Given the description of an element on the screen output the (x, y) to click on. 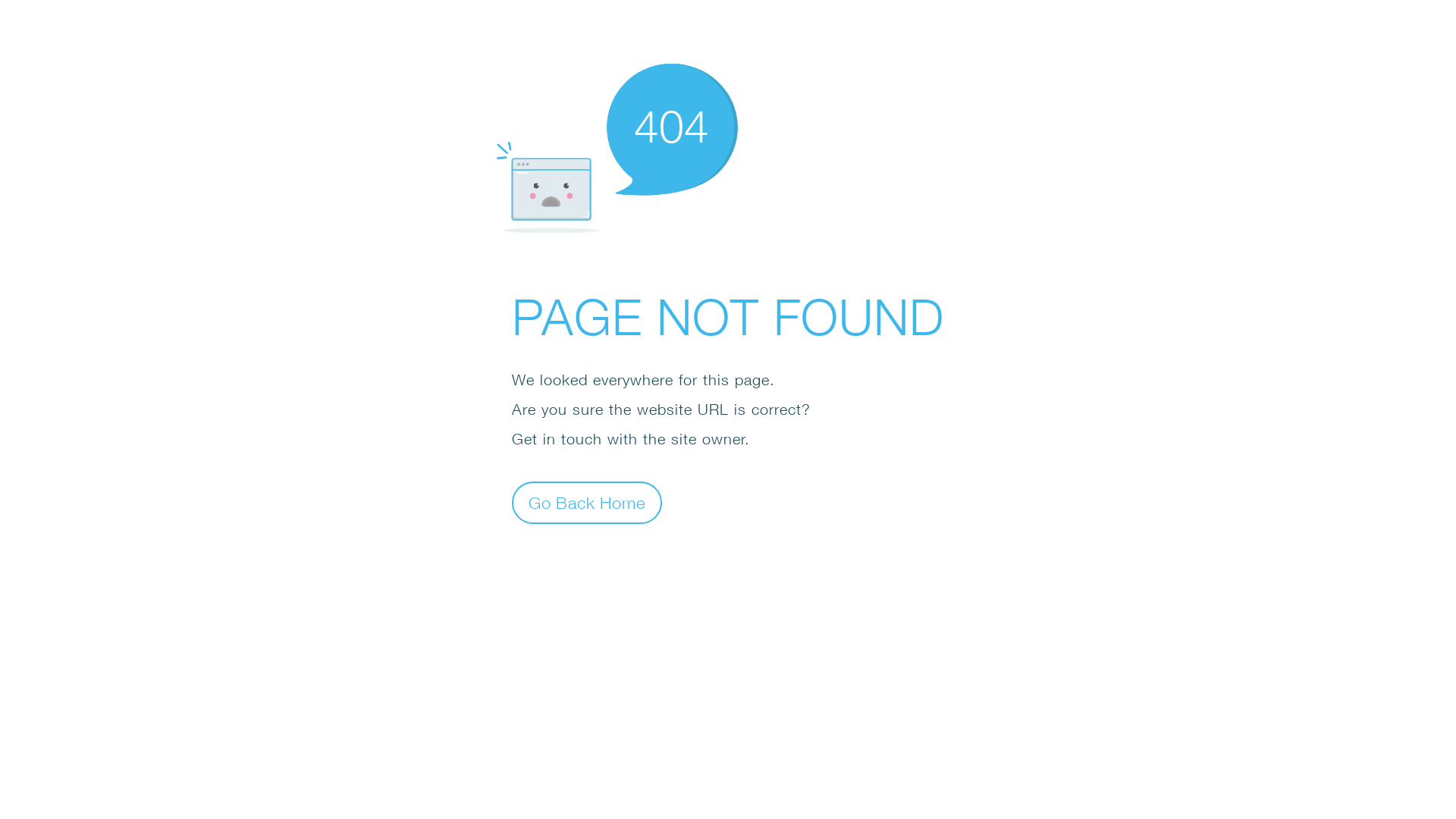
Go Back Home Element type: text (586, 502)
